Given the description of an element on the screen output the (x, y) to click on. 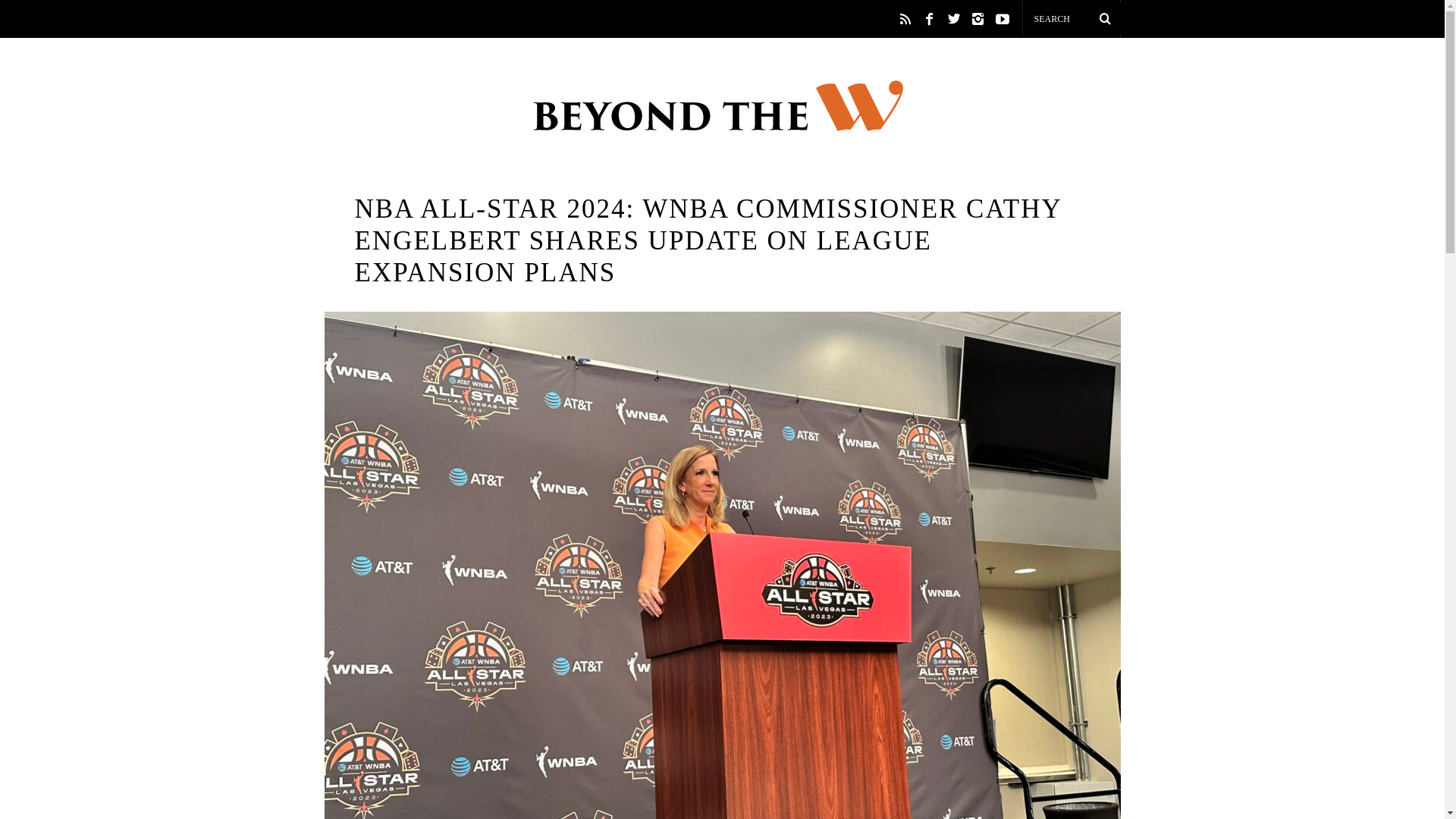
Search (1071, 18)
